Given the description of an element on the screen output the (x, y) to click on. 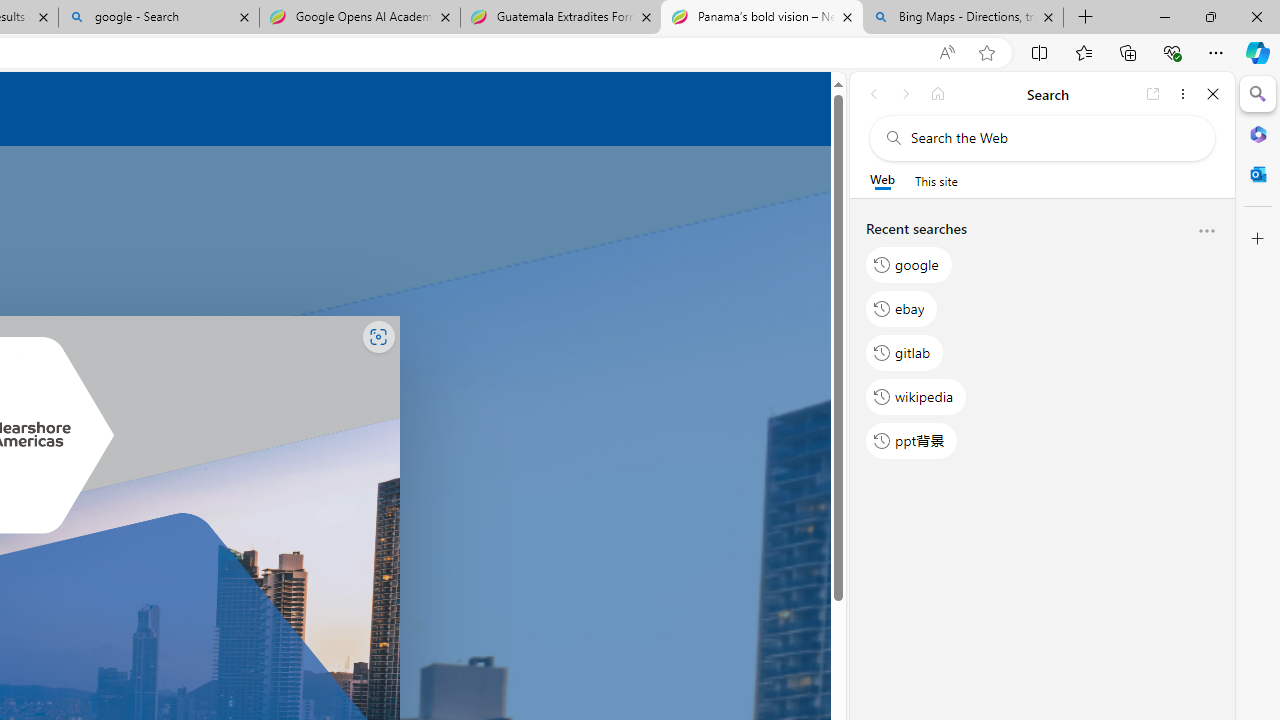
google (909, 264)
Google Opens AI Academy for Startups - Nearshore Americas (359, 17)
wikipedia (916, 396)
